Given the description of an element on the screen output the (x, y) to click on. 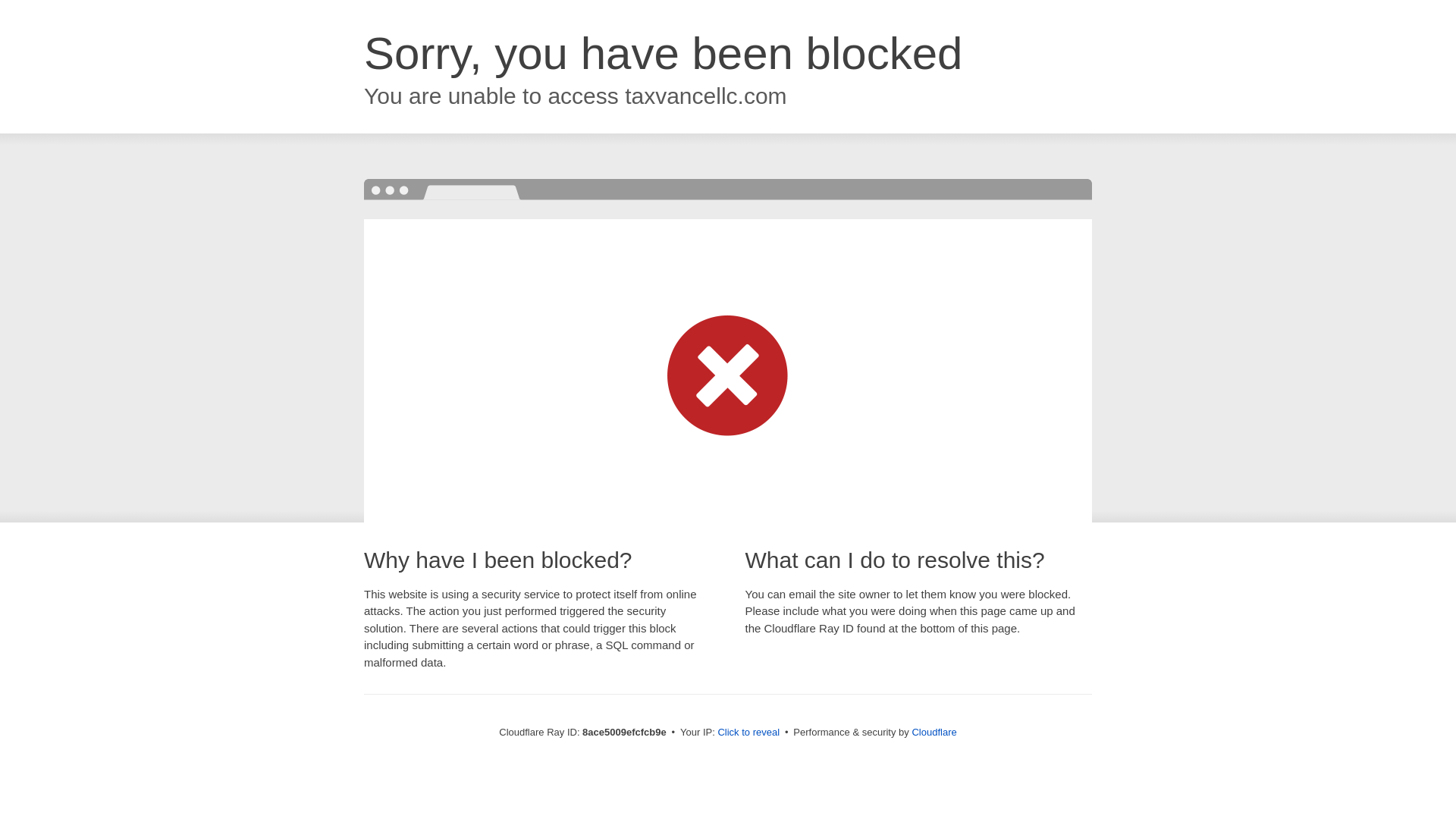
Click to reveal (747, 732)
Cloudflare (933, 731)
